Given the description of an element on the screen output the (x, y) to click on. 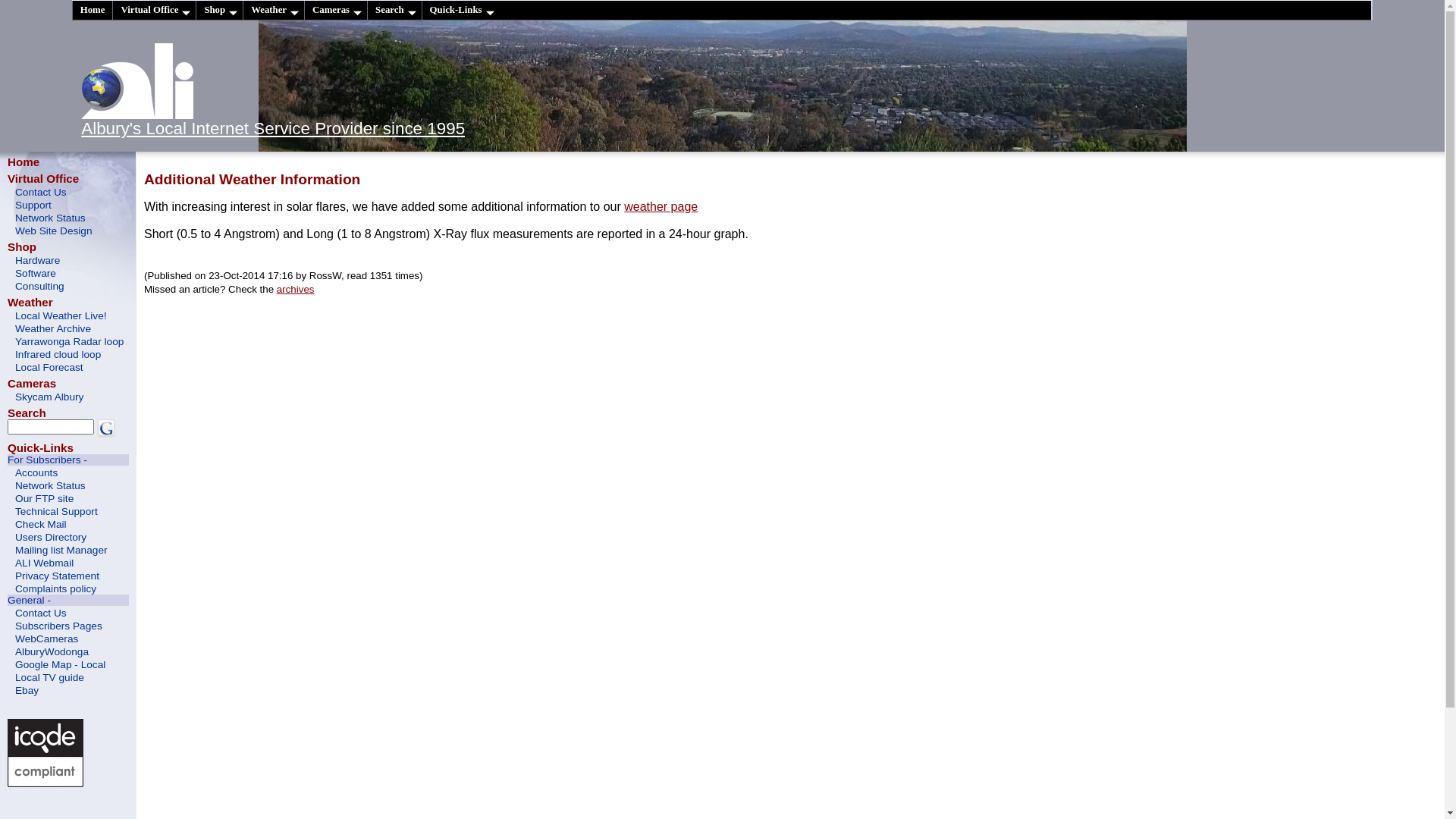
Hardware Element type: text (67, 259)
Virtual Office Element type: text (42, 178)
Accounts Element type: text (67, 471)
Google Map - Local Element type: text (67, 663)
Contact Us Element type: text (67, 611)
Consulting Element type: text (67, 285)
Quick-Links Element type: text (460, 9)
ALI Webmail Element type: text (67, 561)
Users Directory Element type: text (67, 536)
Ebay Element type: text (67, 689)
Privacy Statement Element type: text (67, 574)
Infrared cloud loop Element type: text (67, 353)
Technical Support Element type: text (67, 510)
weather page Element type: text (660, 206)
Contact Us Element type: text (67, 191)
WebCameras Element type: text (67, 637)
Albury's Local Internet Service Provider since 1995 Element type: text (272, 128)
Virtual Office Element type: text (153, 9)
AlburyWodonga Element type: text (67, 650)
Mailing list Manager Element type: text (67, 548)
Our FTP site Element type: text (67, 497)
Home Element type: text (92, 9)
Software Element type: text (67, 272)
Complaints policy Element type: text (67, 587)
Weather Element type: text (30, 301)
Shop Element type: text (218, 9)
Web Site Design Element type: text (67, 229)
Search Element type: text (393, 9)
Local Forecast Element type: text (67, 366)
Local Weather Live! Element type: text (67, 314)
Cameras Element type: text (31, 382)
Yarrawonga Radar loop Element type: text (67, 340)
Quick-Links Element type: text (40, 447)
Weather Archive Element type: text (67, 327)
Cameras Element type: text (335, 9)
Search Element type: text (26, 412)
Network Status Element type: text (67, 216)
archives Element type: text (295, 288)
Network Status Element type: text (67, 484)
Weather Element type: text (273, 9)
Subscribers Pages Element type: text (67, 624)
Support Element type: text (67, 203)
Skycam Albury Element type: text (67, 395)
Shop Element type: text (21, 246)
Home Element type: text (23, 161)
Check Mail Element type: text (67, 523)
Local TV guide Element type: text (67, 676)
